Given the description of an element on the screen output the (x, y) to click on. 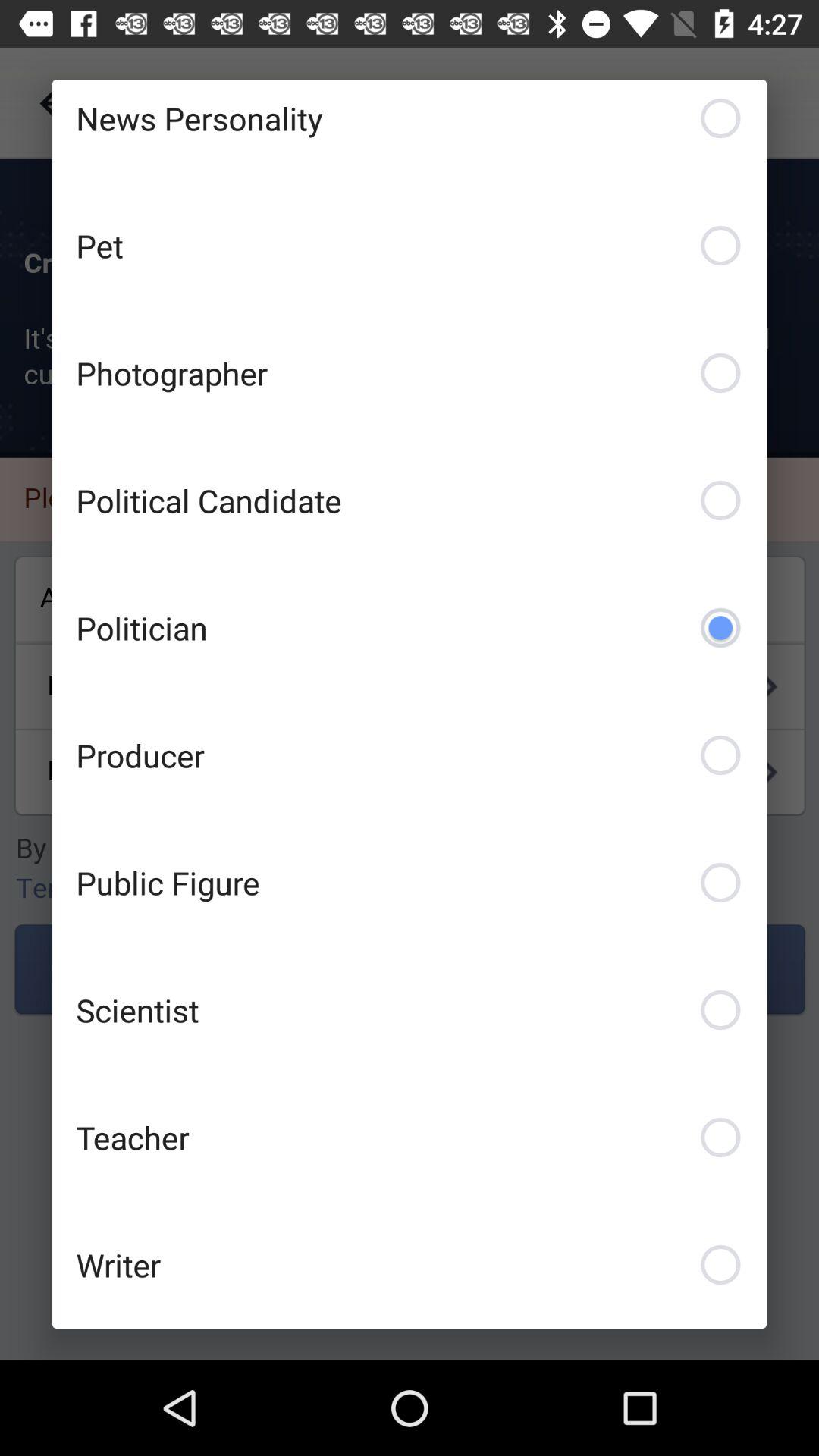
open item below the public figure (409, 1009)
